Given the description of an element on the screen output the (x, y) to click on. 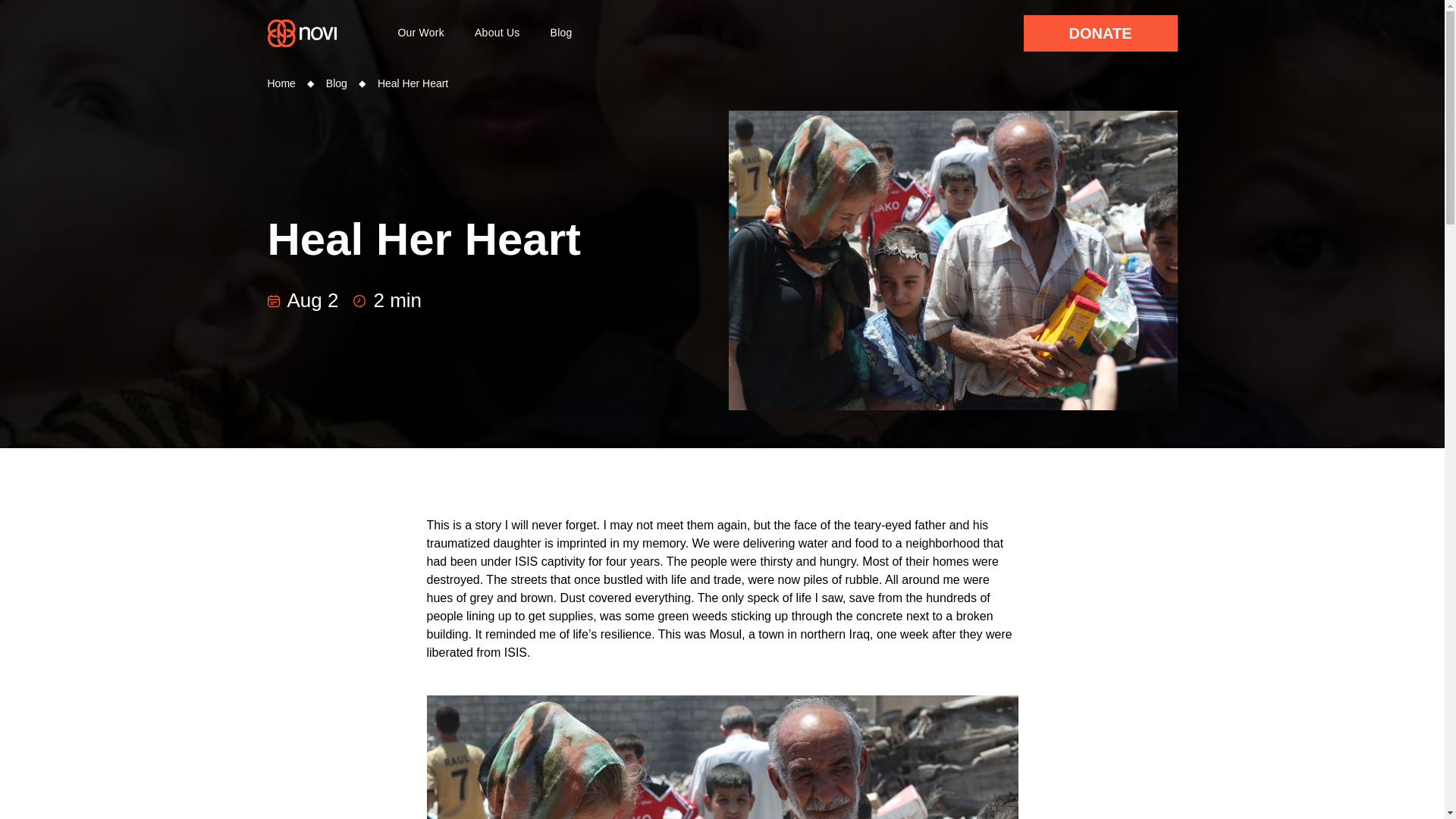
About Us (496, 33)
Home (280, 83)
DONATE (1100, 33)
Our Work (491, 259)
Blog (420, 33)
